Given the description of an element on the screen output the (x, y) to click on. 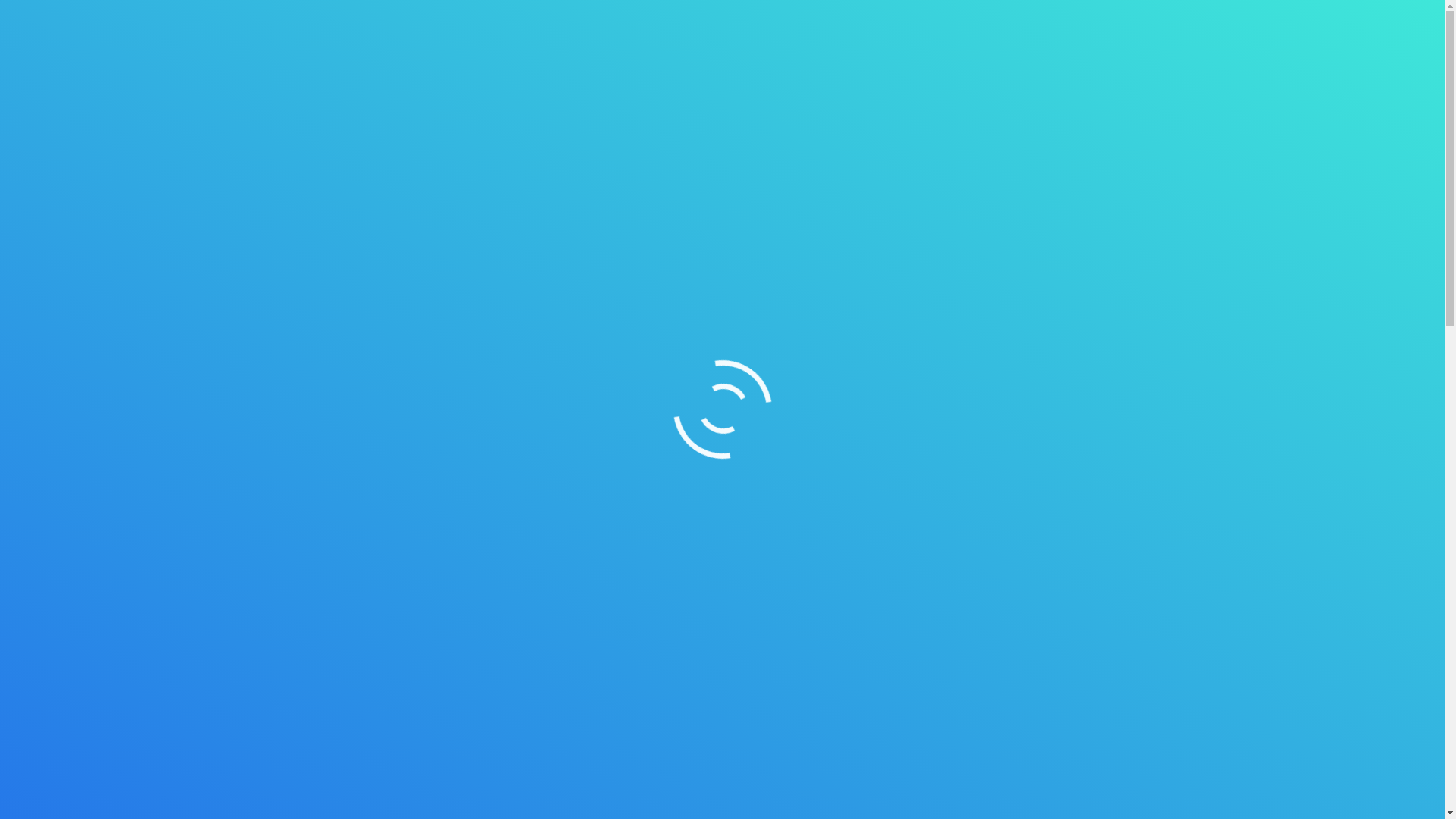
softosource3 (986, 17)
SERVICES (816, 65)
mobile gadgets (865, 770)
FREE ESTIMATE (1098, 63)
iPhone (812, 708)
HOME (689, 65)
1-877-584-7475 (886, 17)
PORTFOLIO (898, 65)
9:16 pm (329, 175)
